Given the description of an element on the screen output the (x, y) to click on. 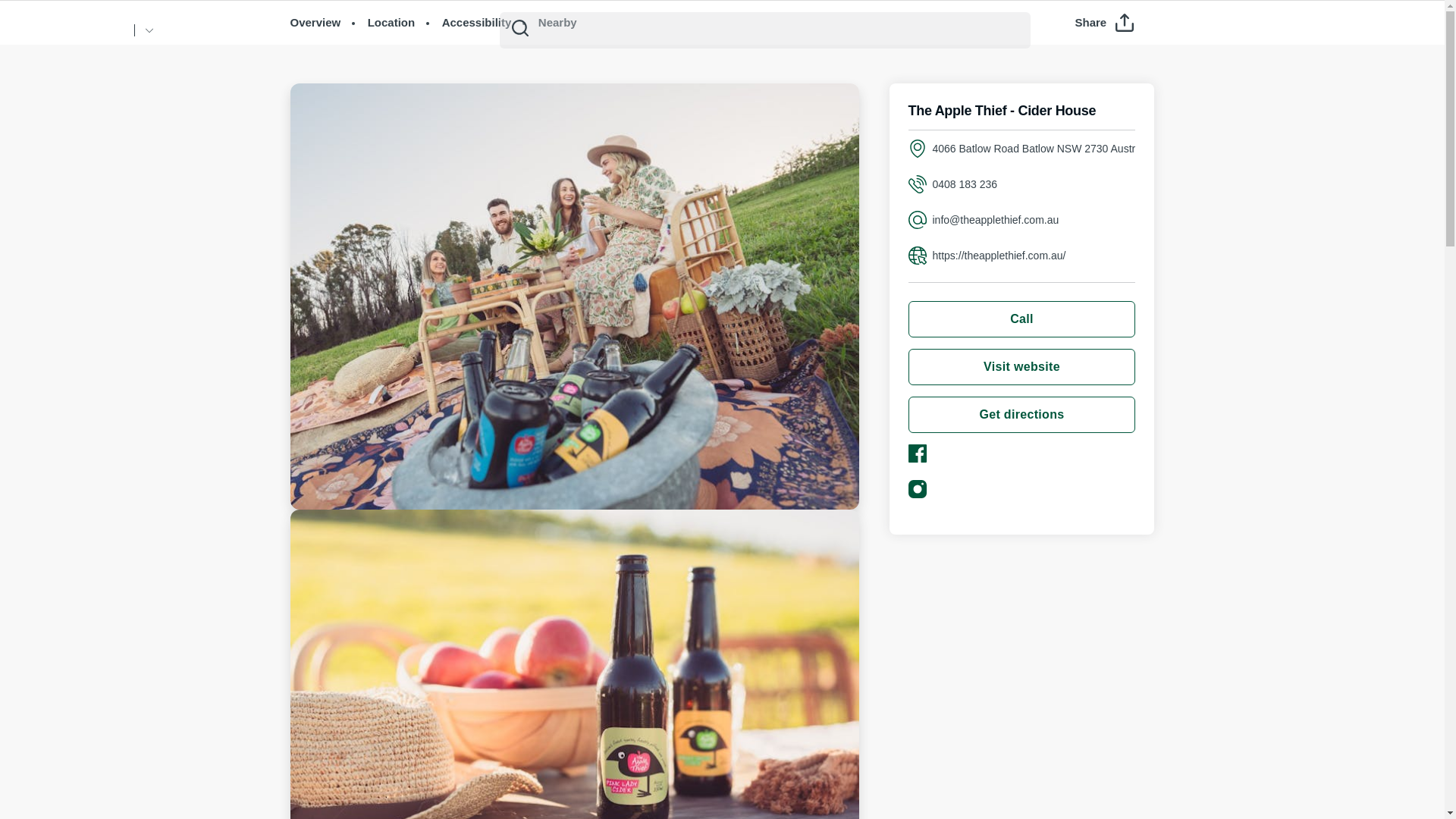
Submit the search query. (520, 27)
Open (1407, 29)
Toggle navigation (1407, 31)
Home (74, 29)
Go to (148, 30)
